Given the description of an element on the screen output the (x, y) to click on. 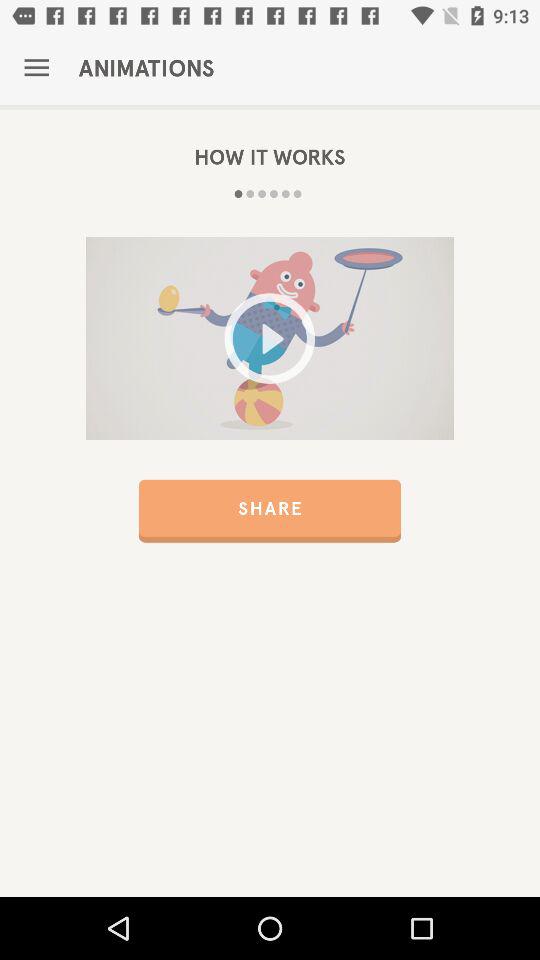
play video (269, 338)
